Given the description of an element on the screen output the (x, y) to click on. 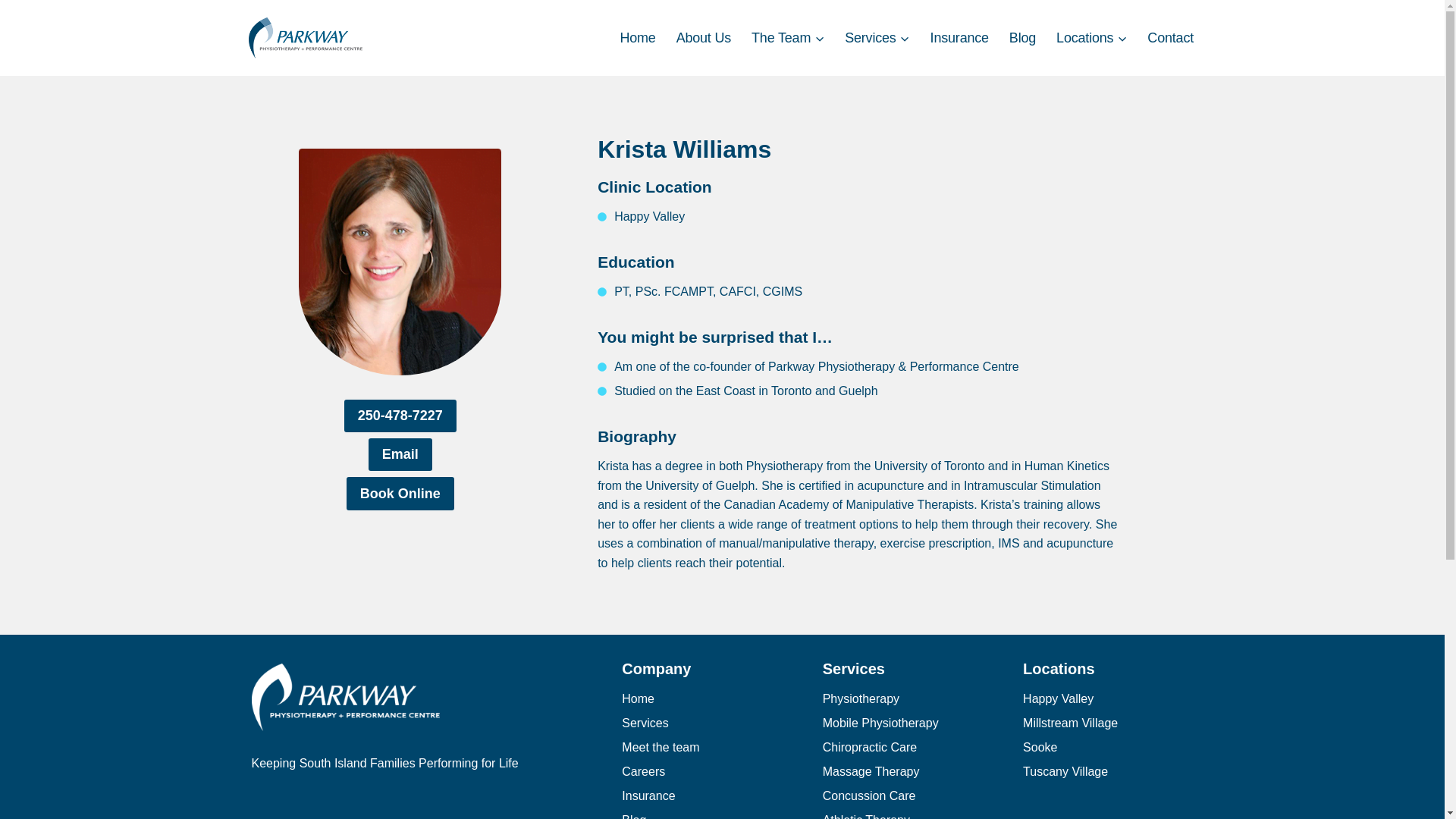
Blog (1021, 37)
About Us (703, 37)
Locations (1091, 37)
Insurance (959, 37)
Contact (1170, 37)
The Team (787, 37)
Home (637, 37)
Services (877, 37)
